Given the description of an element on the screen output the (x, y) to click on. 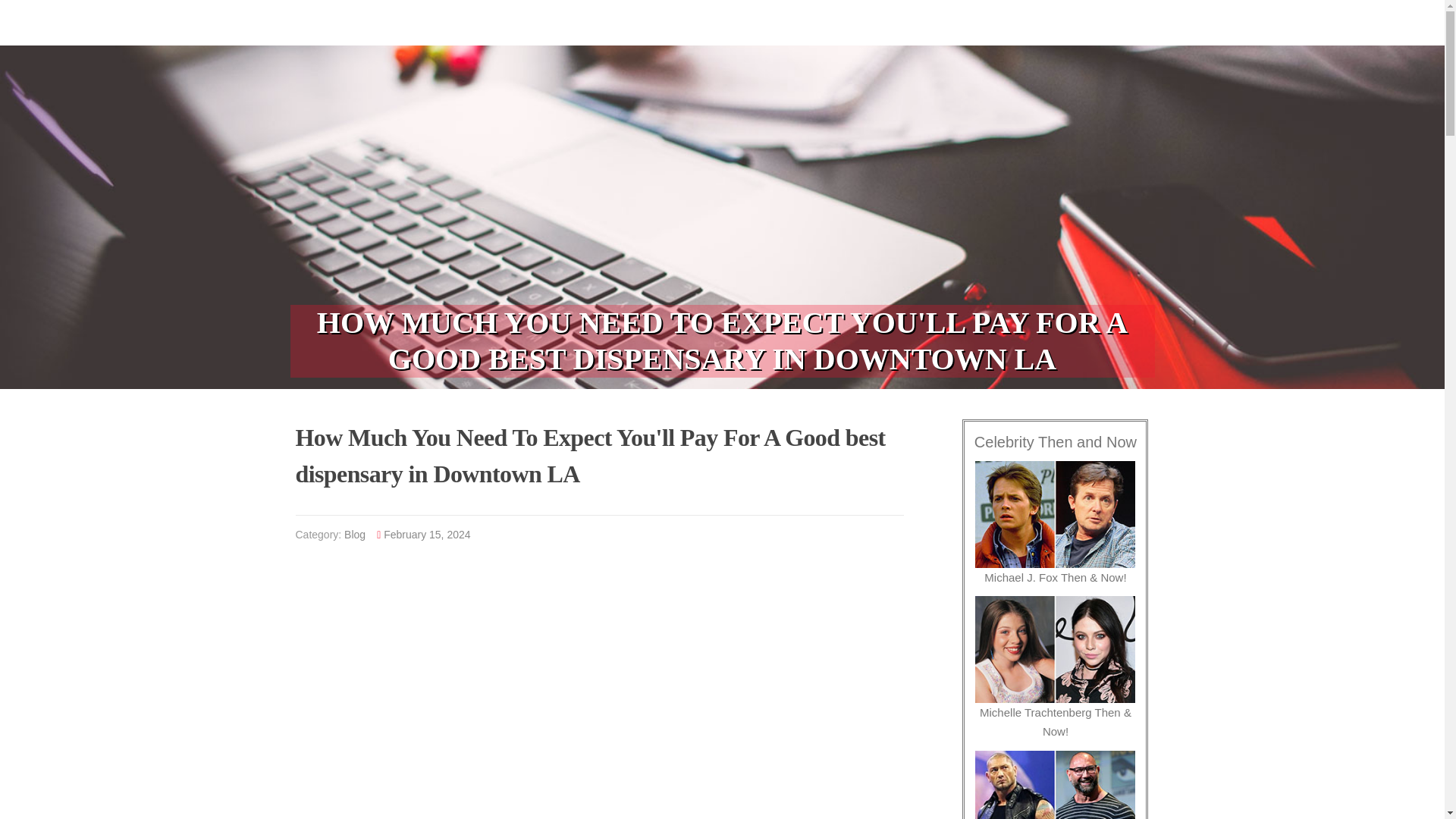
Blog (354, 534)
GUNNERJIDYU.COLLECTBLOGS.COM (403, 16)
Skip to content (37, 9)
February 15, 2024 (427, 534)
